Given the description of an element on the screen output the (x, y) to click on. 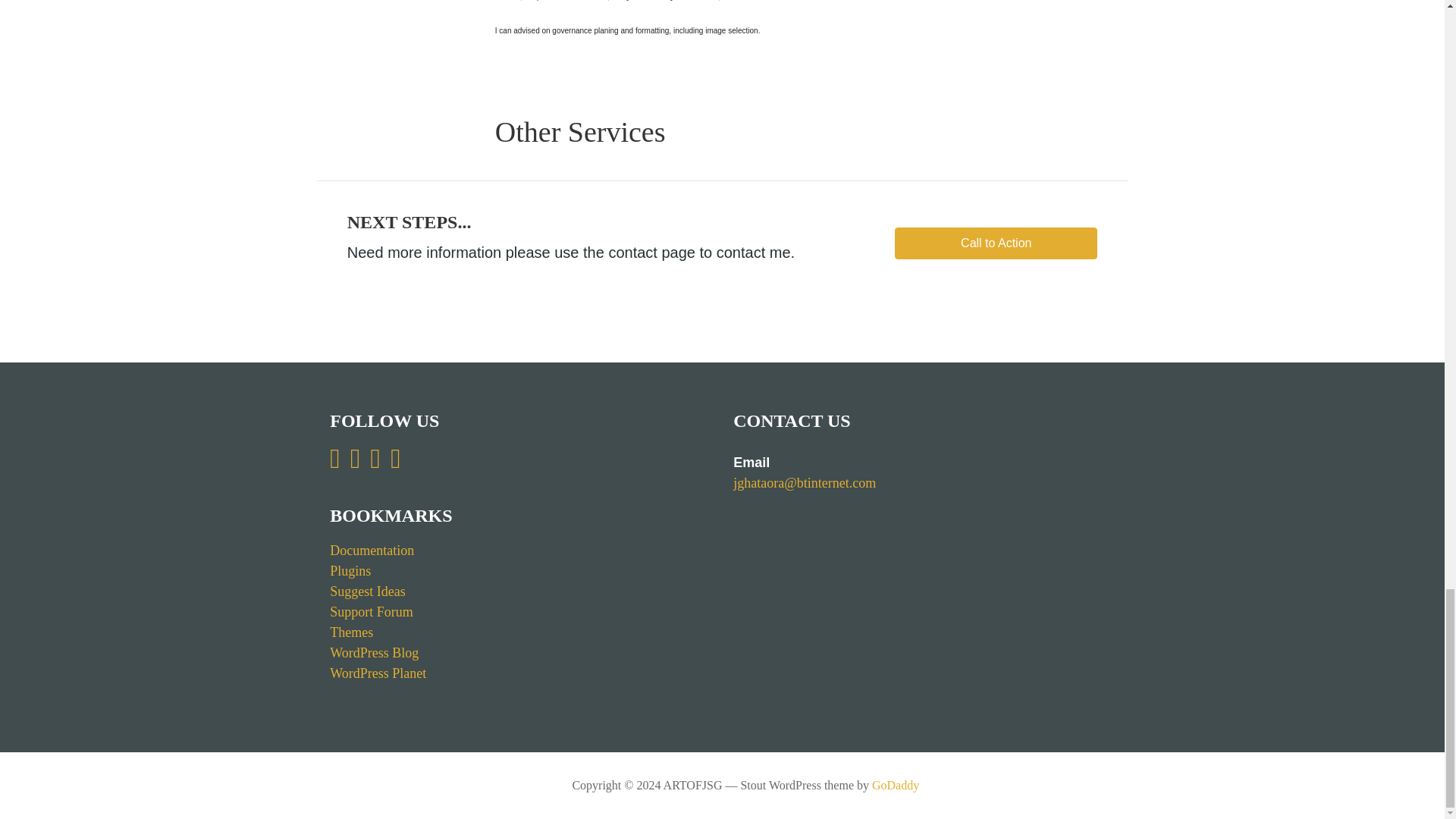
Plugins (350, 570)
WordPress Blog (374, 652)
WordPress Planet (378, 672)
Themes (351, 631)
Call to Action (996, 243)
Documentation (371, 549)
GoDaddy (895, 784)
Support Forum (371, 611)
Suggest Ideas (367, 590)
